Given the description of an element on the screen output the (x, y) to click on. 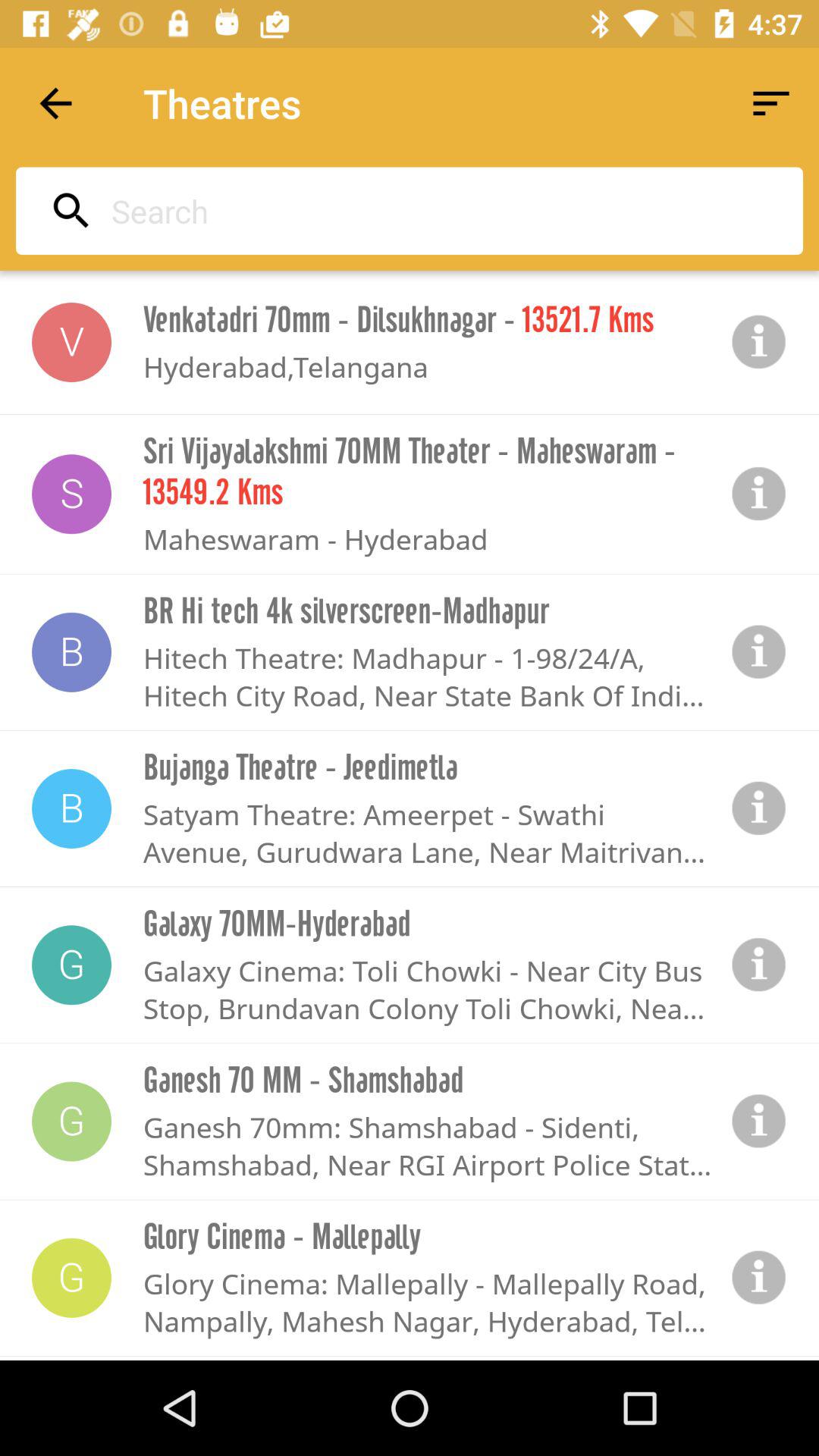
tap button for more information (759, 965)
